Given the description of an element on the screen output the (x, y) to click on. 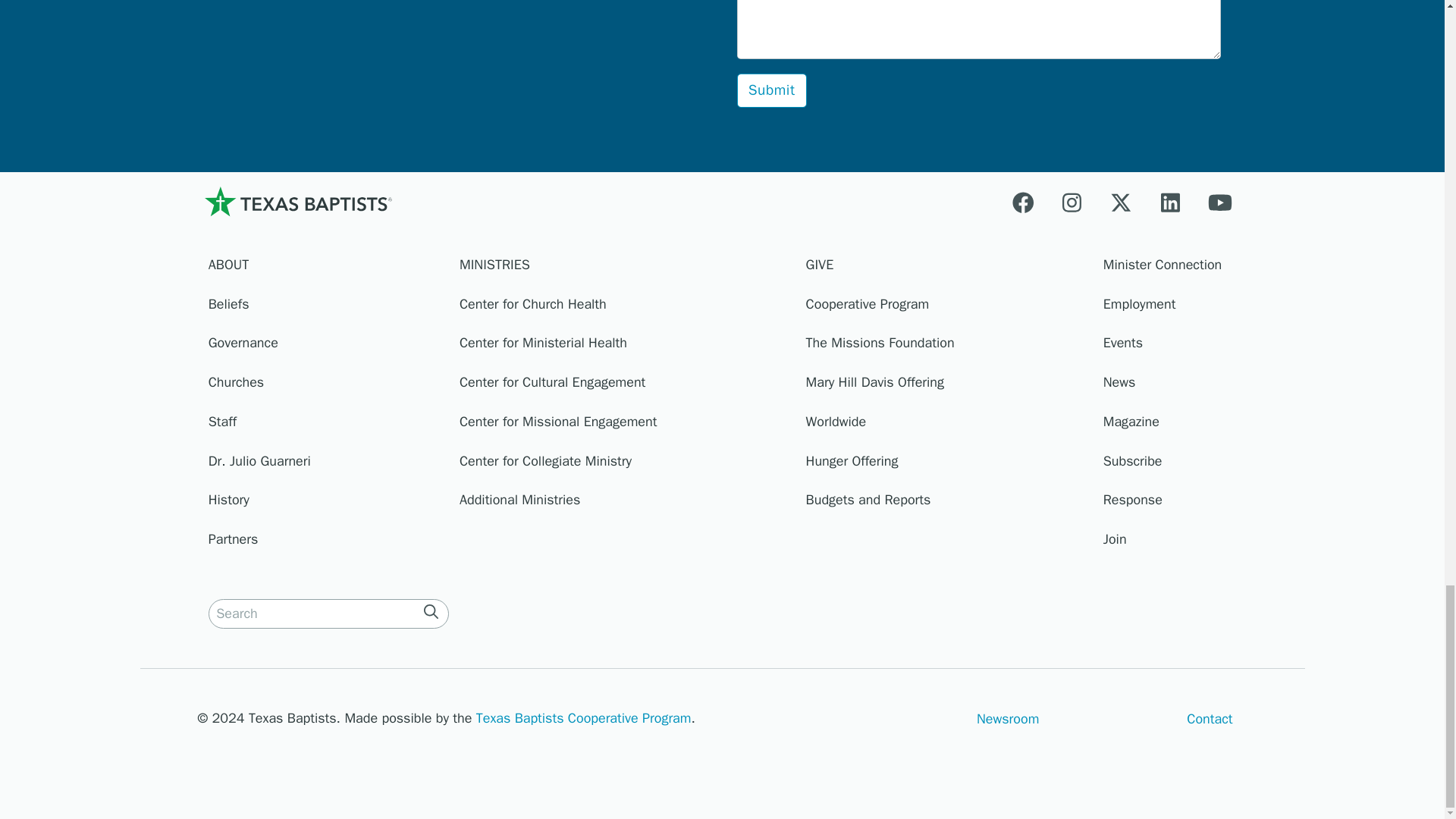
Home (297, 201)
